Given the description of an element on the screen output the (x, y) to click on. 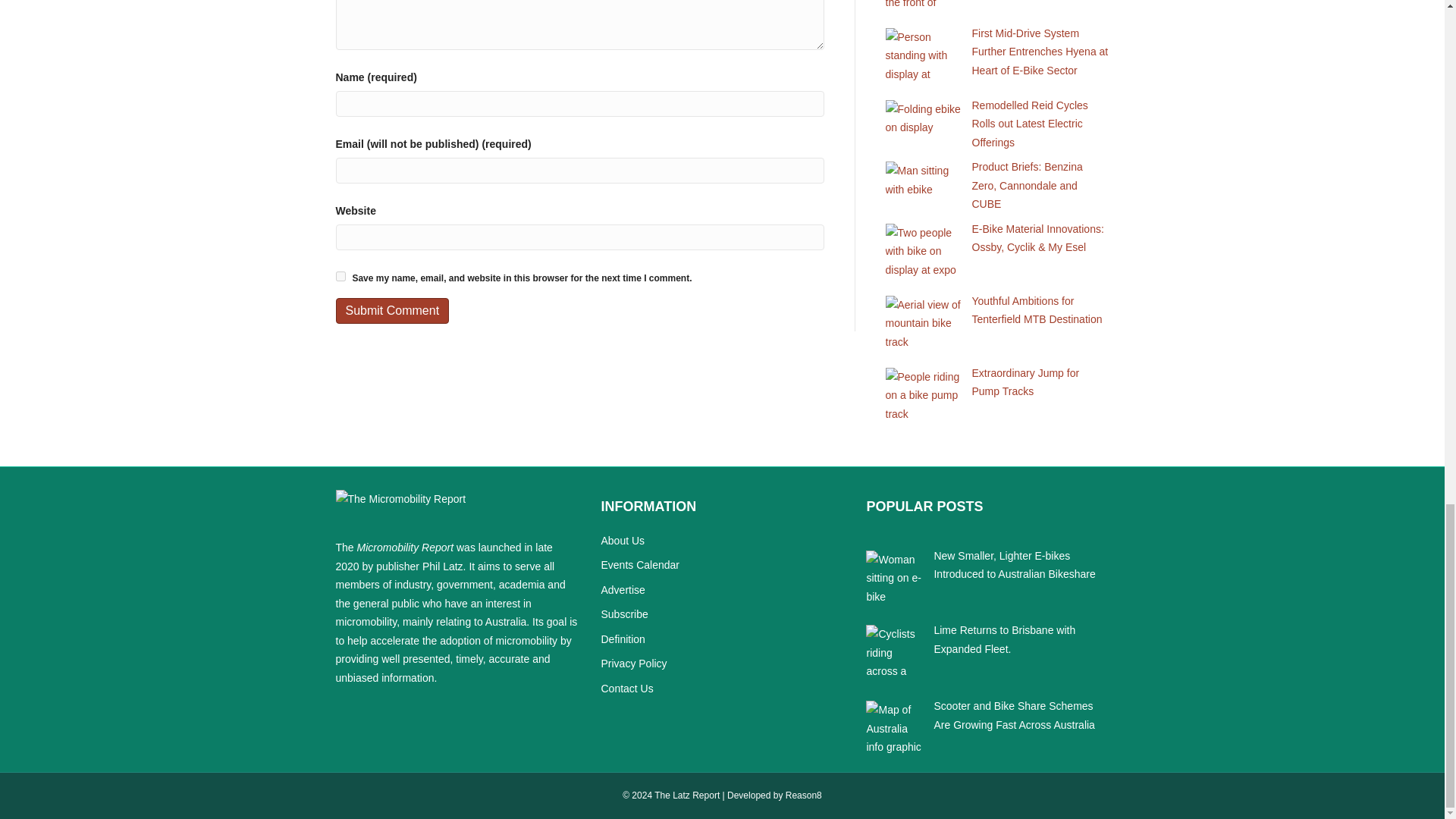
Submit Comment (391, 310)
yes (339, 276)
Micromobility Definition (622, 639)
